Given the description of an element on the screen output the (x, y) to click on. 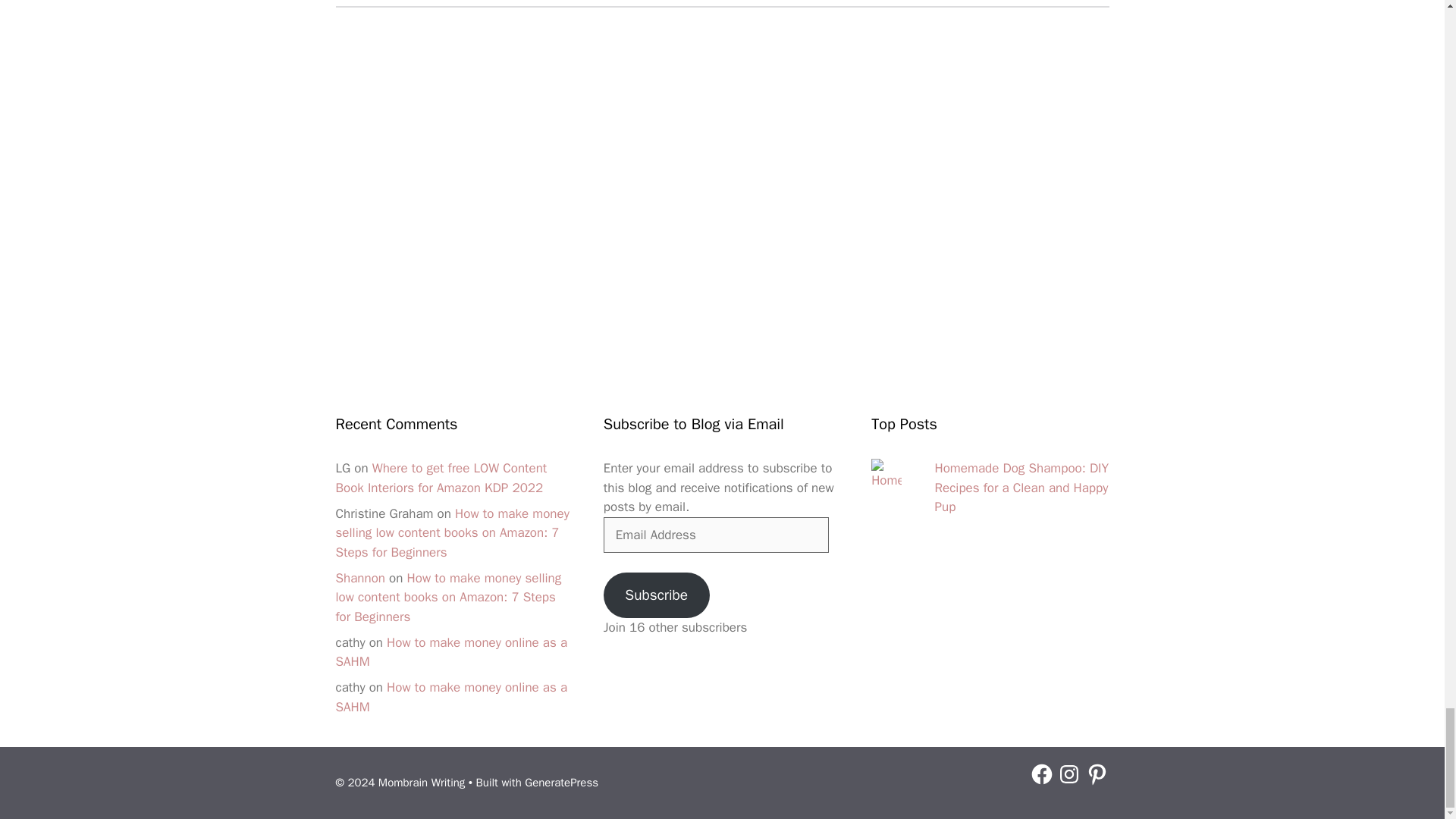
How to make money online as a SAHM (450, 652)
How to make money online as a SAHM (450, 696)
Shannon (359, 578)
